Given the description of an element on the screen output the (x, y) to click on. 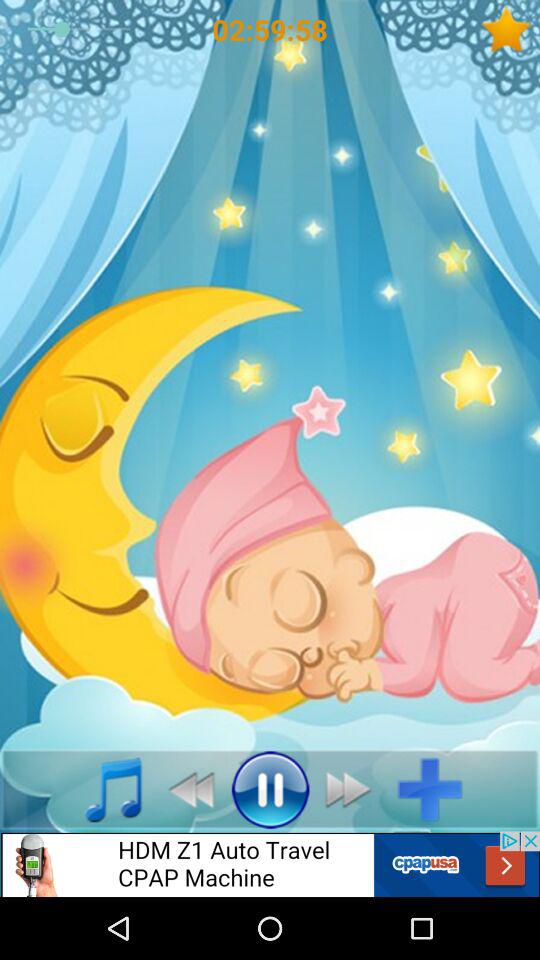
toggle rewind option (186, 789)
